Given the description of an element on the screen output the (x, y) to click on. 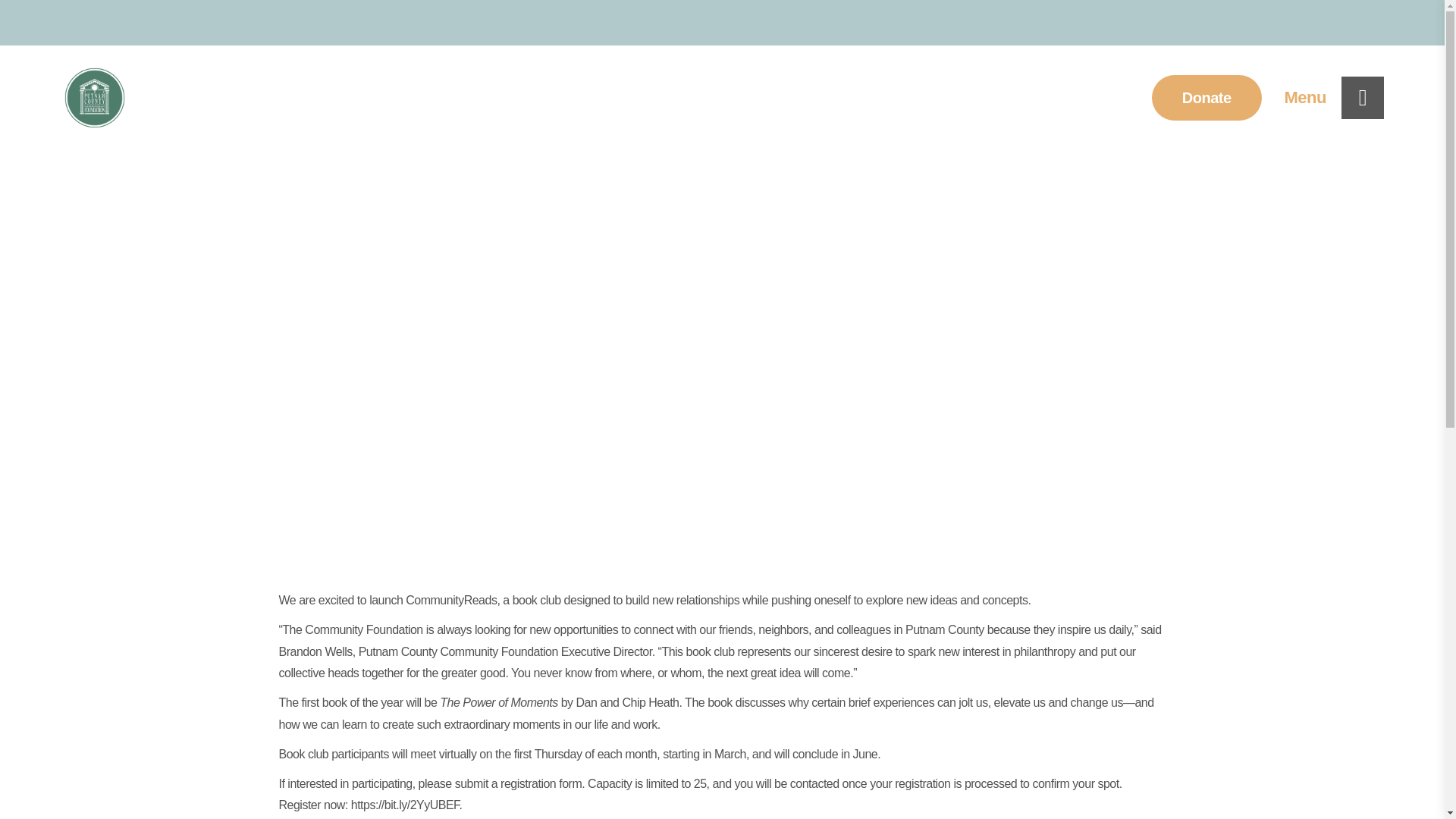
Menu (1334, 97)
The Power of Moments (498, 702)
Donate (1206, 97)
